Given the description of an element on the screen output the (x, y) to click on. 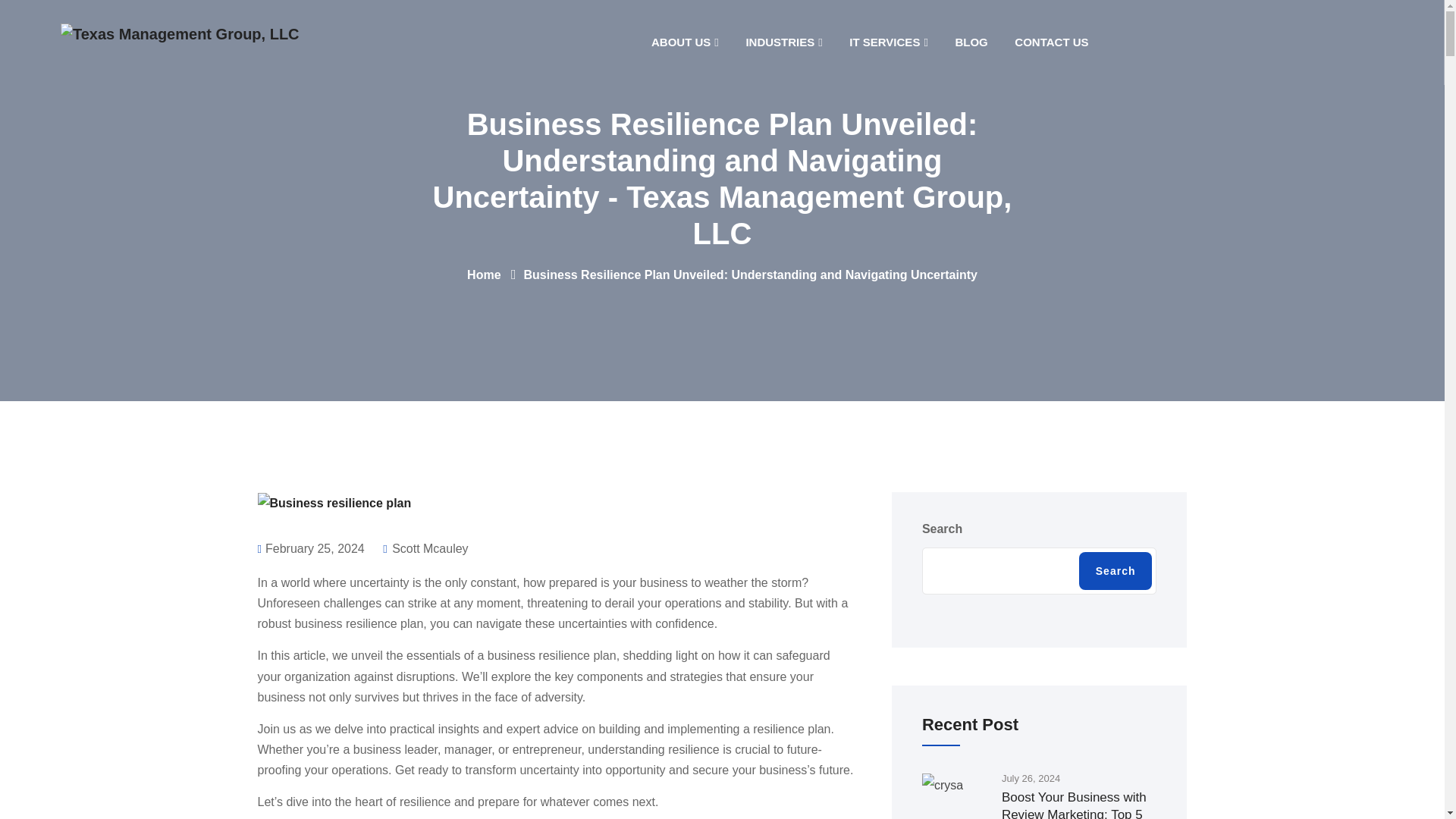
ABOUT US (685, 42)
IT SERVICES (888, 42)
Industries (782, 42)
About Us (685, 42)
INDUSTRIES (782, 42)
